Given the description of an element on the screen output the (x, y) to click on. 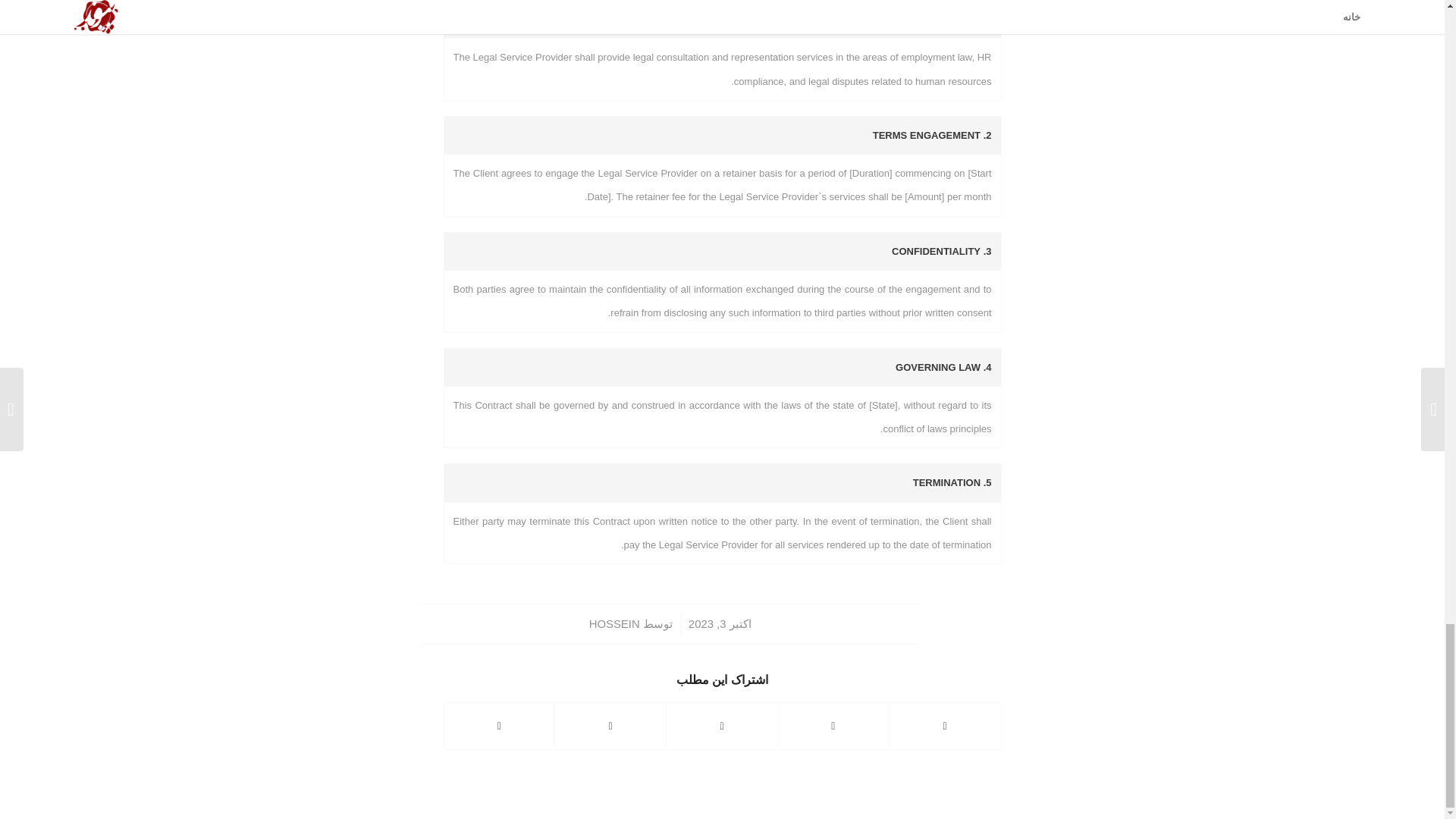
HOSSEIN (614, 623)
